Given the description of an element on the screen output the (x, y) to click on. 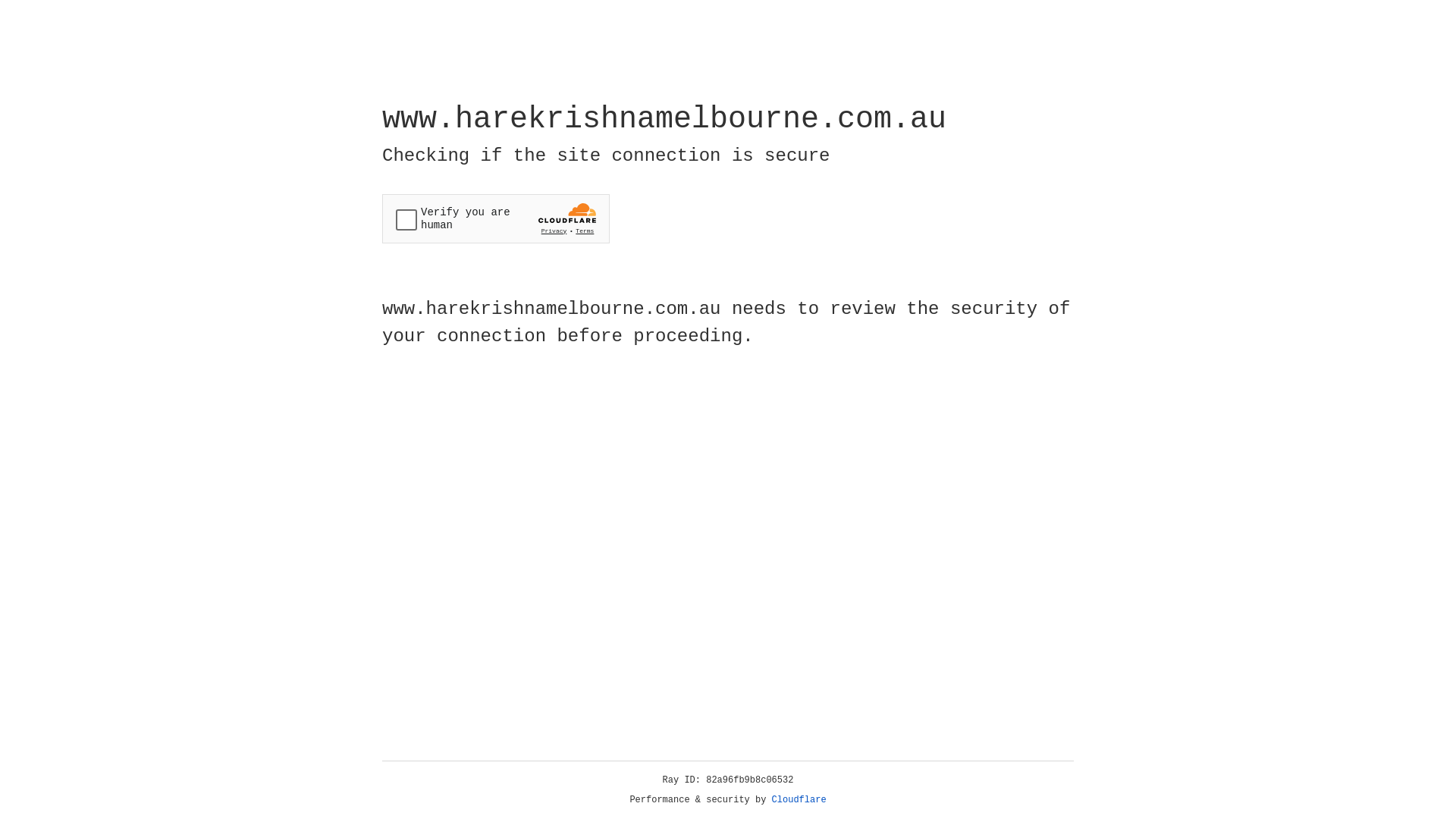
Cloudflare Element type: text (798, 799)
Widget containing a Cloudflare security challenge Element type: hover (495, 218)
